Given the description of an element on the screen output the (x, y) to click on. 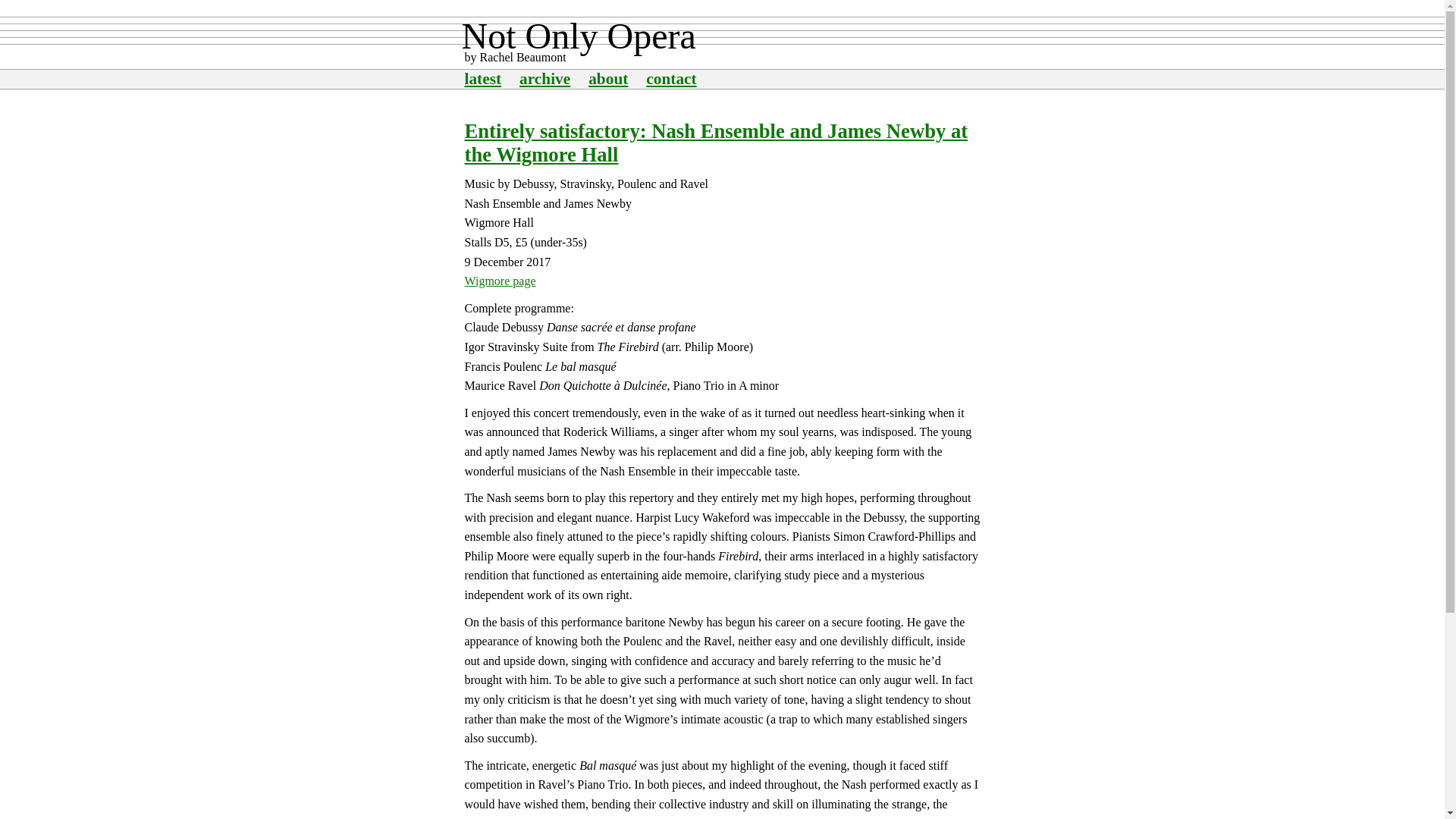
Wigmore page (499, 280)
about (607, 78)
contact (670, 78)
archive (544, 78)
latest (482, 78)
